Given the description of an element on the screen output the (x, y) to click on. 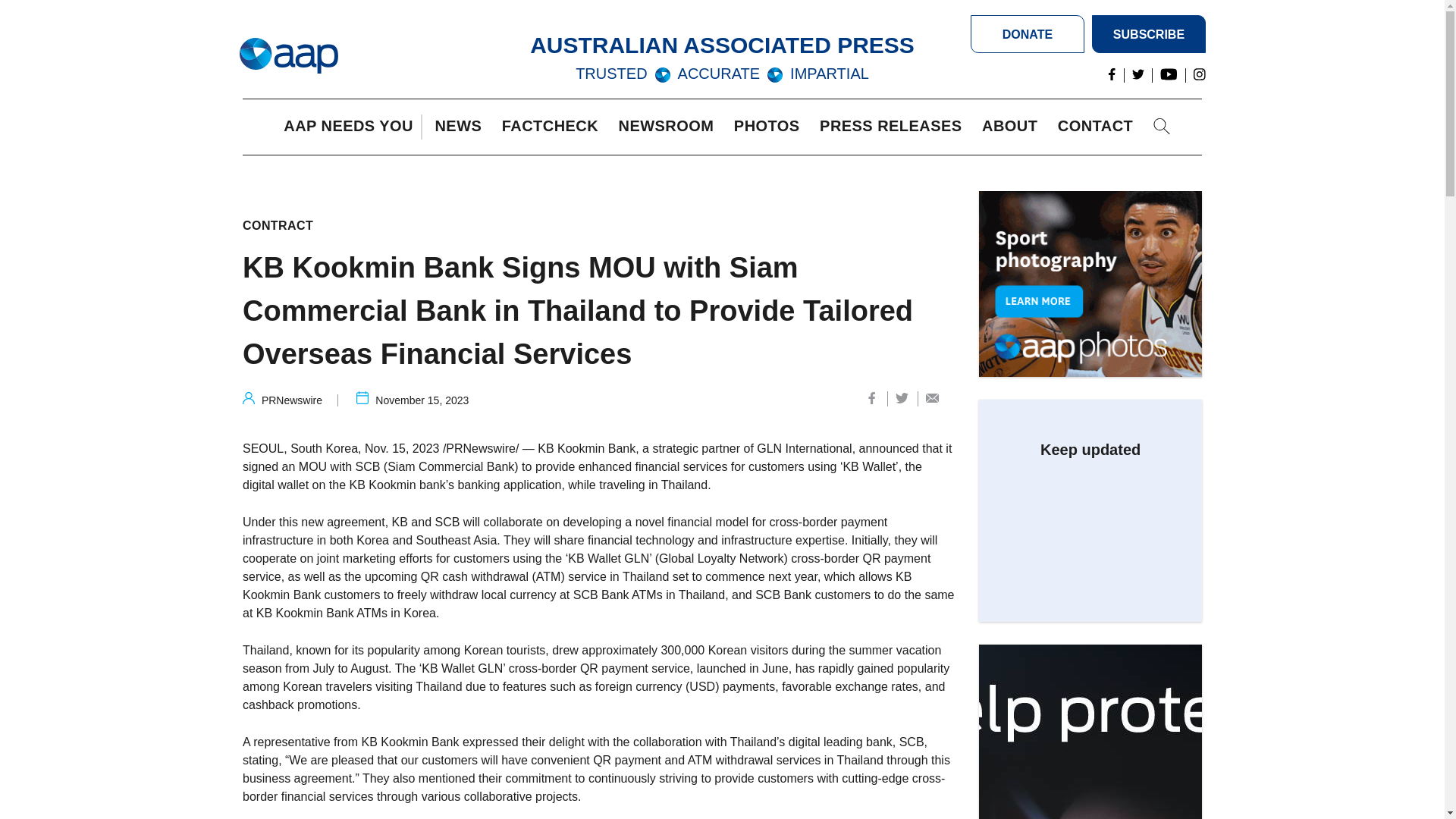
FACTCHECK (553, 126)
AUSTRALIAN ASSOCIATED PRESS (721, 44)
DONATE (1027, 34)
Form 0 (1090, 525)
PRESS RELEASES (894, 126)
Home (288, 56)
AAP NEEDS YOU (351, 126)
NEWS (461, 126)
ABOUT (1013, 126)
PHOTOS (770, 126)
NEWSROOM (670, 126)
SUBSCRIBE (1148, 34)
CONTACT (1099, 126)
